Given the description of an element on the screen output the (x, y) to click on. 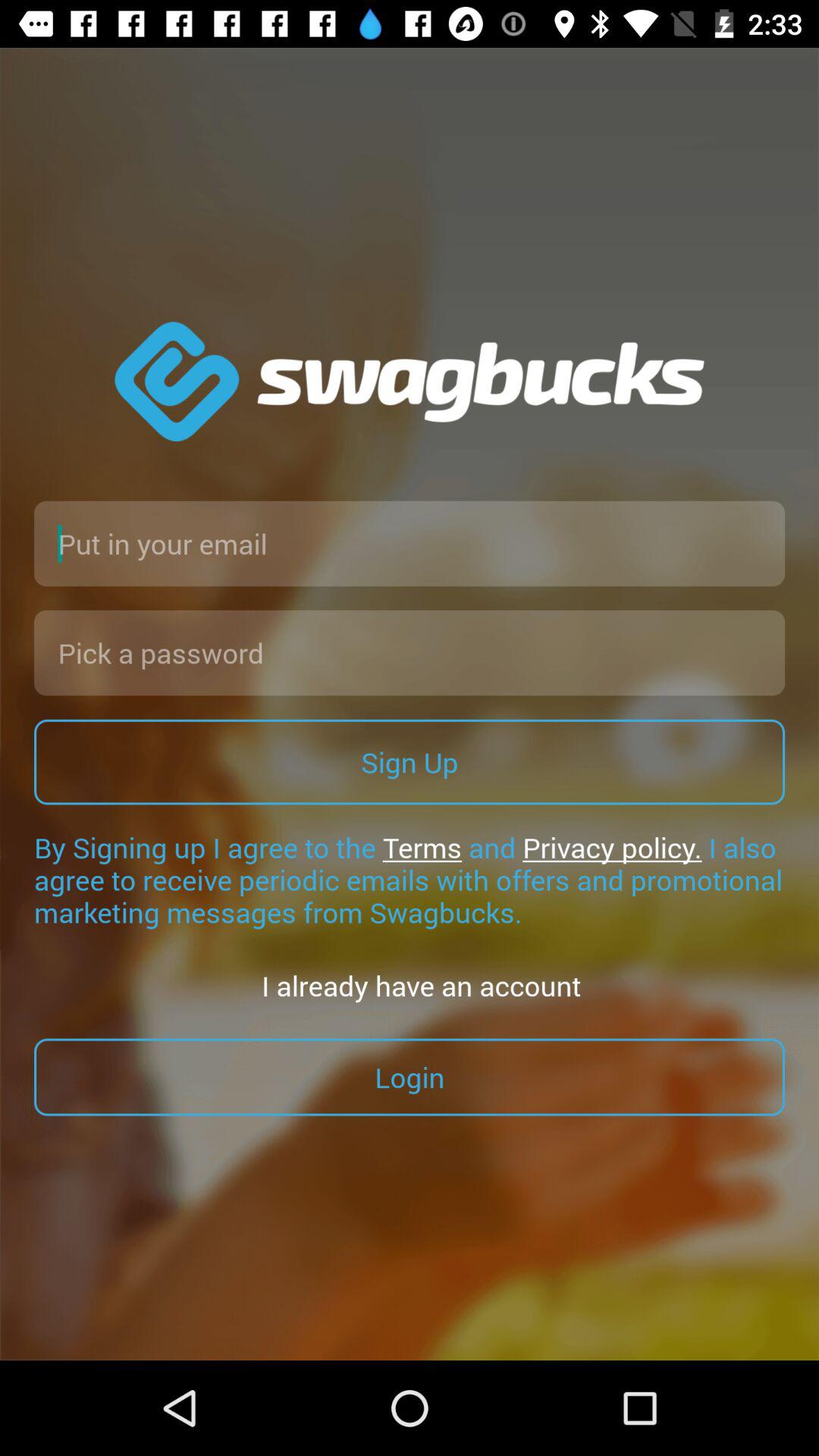
type in password (409, 652)
